Given the description of an element on the screen output the (x, y) to click on. 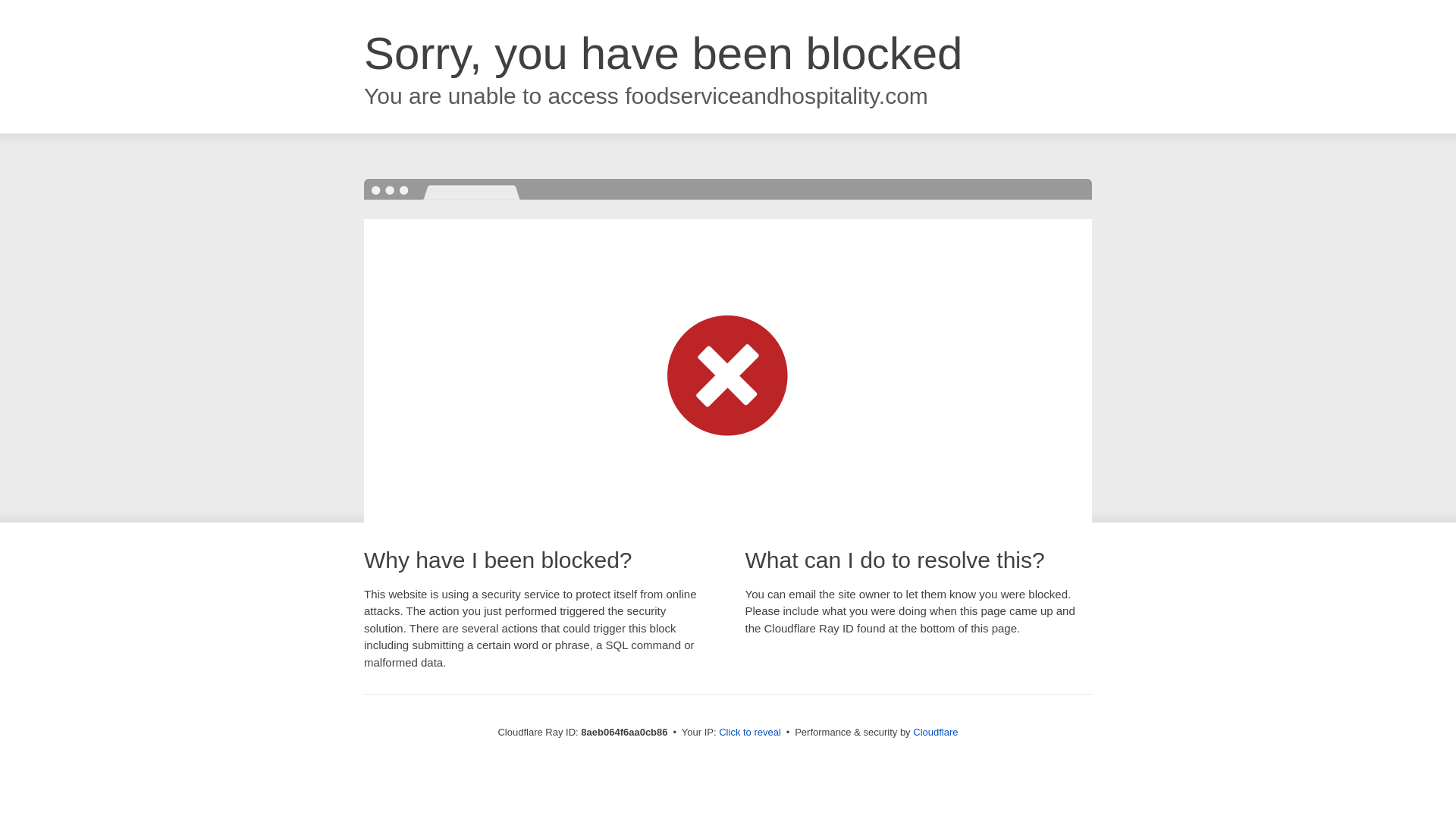
Cloudflare (935, 731)
Click to reveal (749, 732)
